Given the description of an element on the screen output the (x, y) to click on. 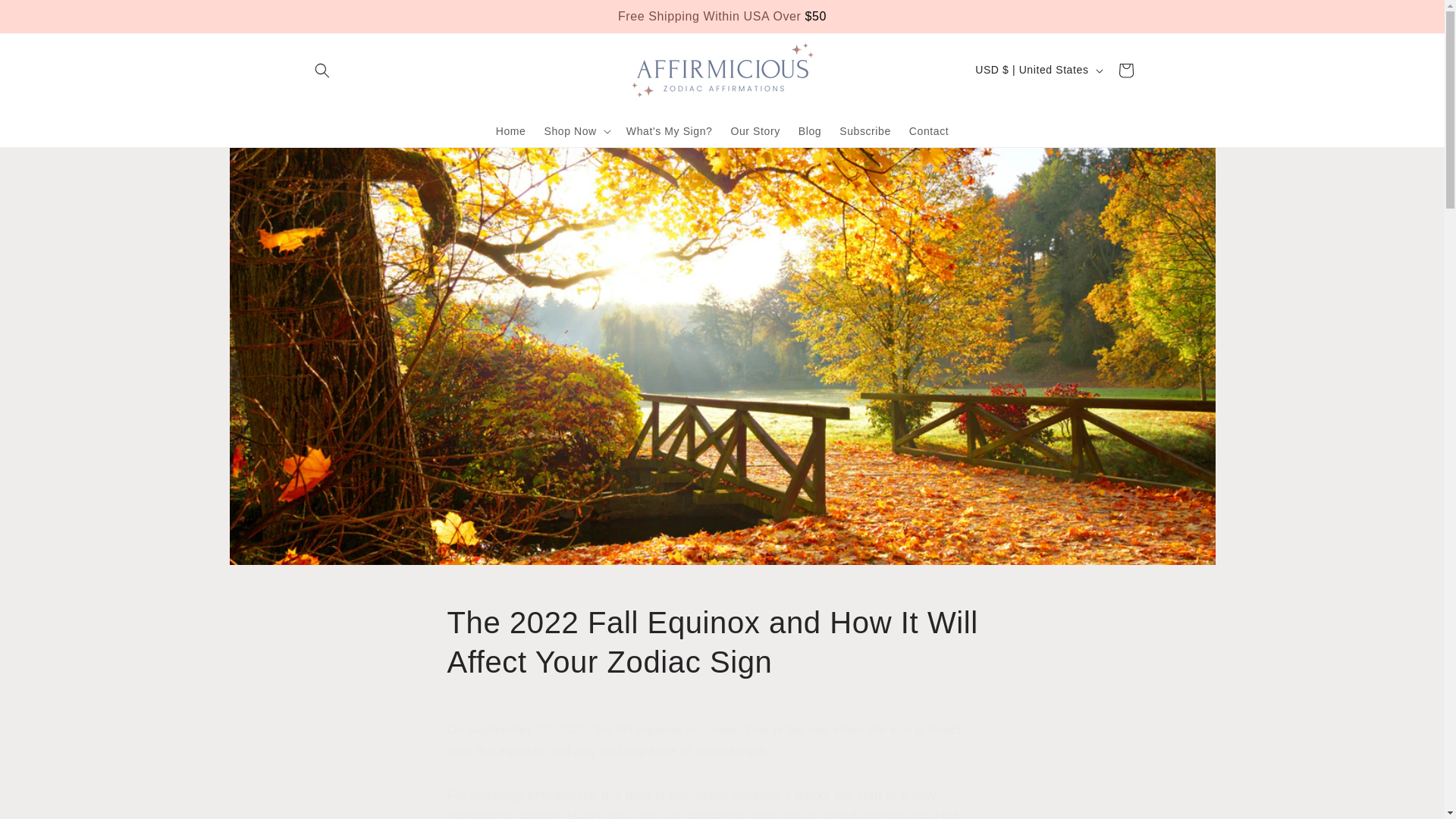
Home (510, 131)
Skip to content (45, 17)
